Given the description of an element on the screen output the (x, y) to click on. 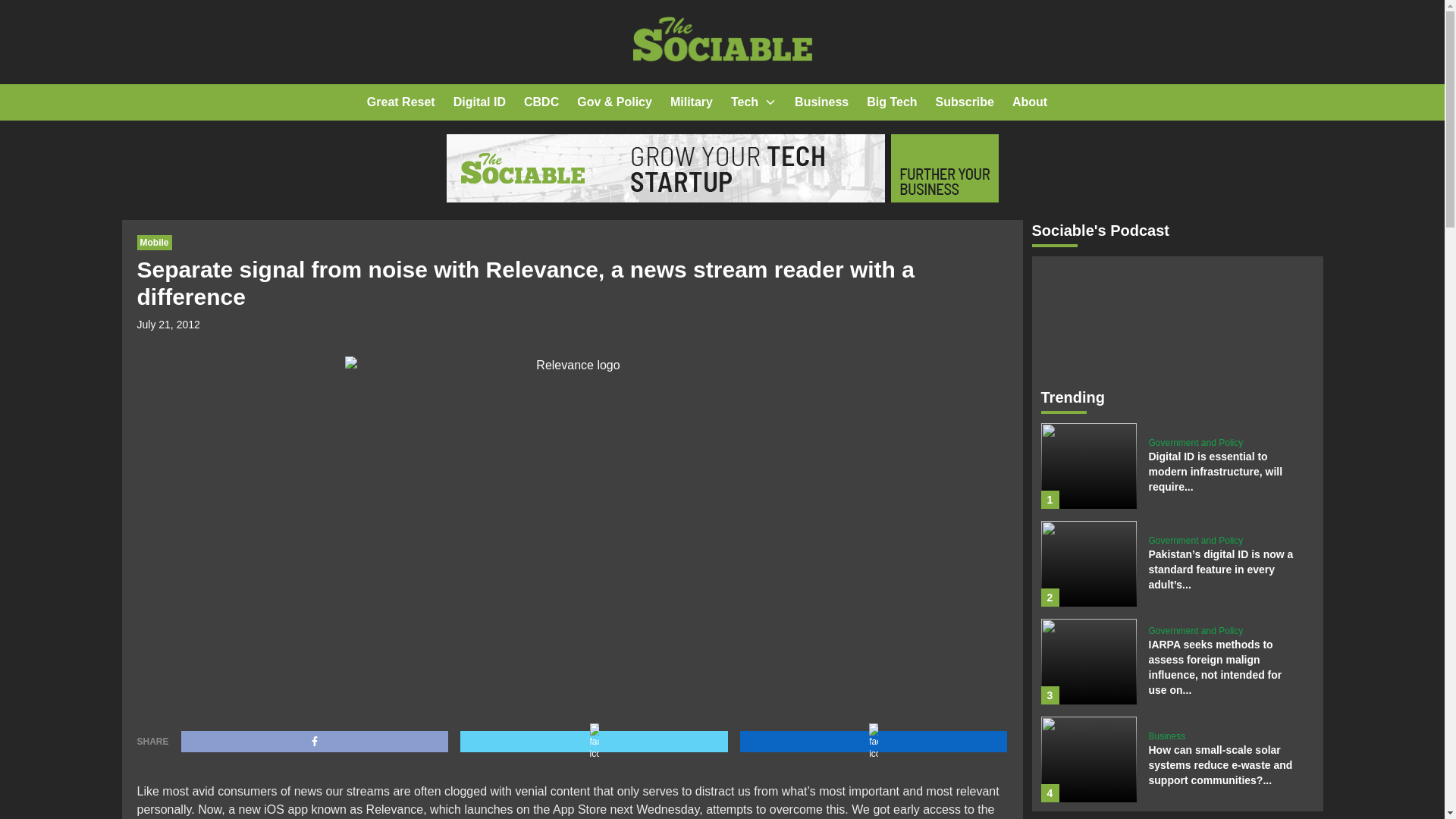
Great Reset (400, 102)
Business (821, 102)
CBDC (541, 102)
Mobile (153, 242)
About (1028, 102)
Tech (744, 102)
Subscribe (965, 102)
Digital ID (478, 102)
Military (691, 102)
Big Tech (891, 102)
